Given the description of an element on the screen output the (x, y) to click on. 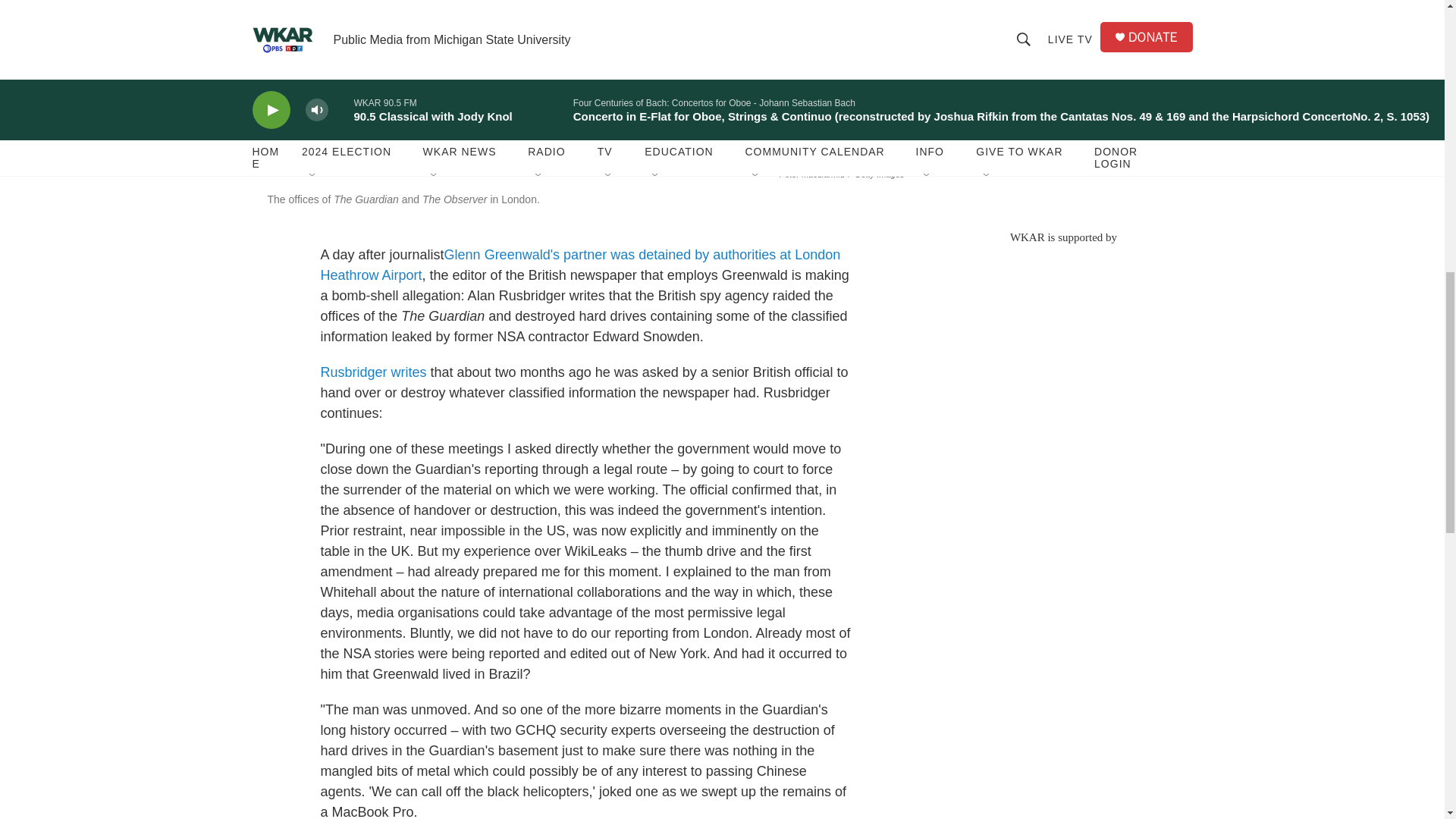
3rd party ad content (1062, 105)
3rd party ad content (1062, 353)
